Given the description of an element on the screen output the (x, y) to click on. 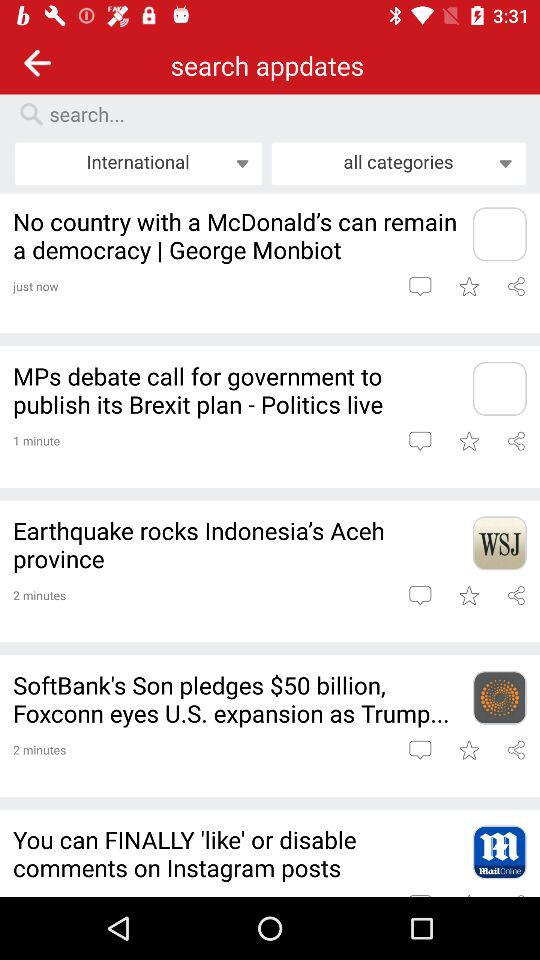
view link (515, 286)
